Given the description of an element on the screen output the (x, y) to click on. 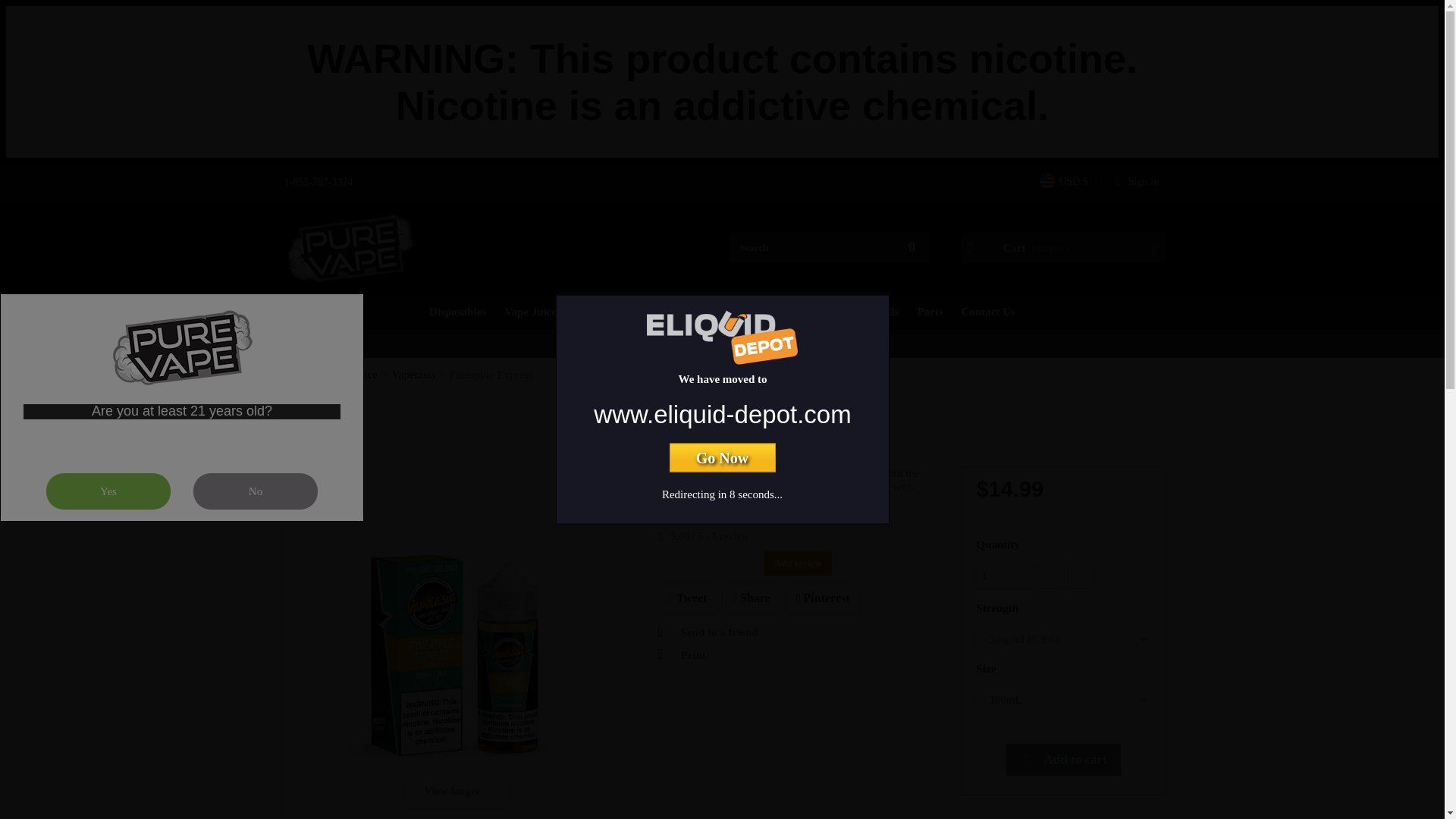
Pods (714, 311)
Tanks (840, 311)
Shortfills (597, 311)
Parts (929, 311)
Coils (886, 311)
Vape Devices (775, 311)
Pure Vape (349, 246)
Disposables (457, 311)
View my shopping cart (1063, 247)
1-855-787-3324 (316, 182)
